Given the description of an element on the screen output the (x, y) to click on. 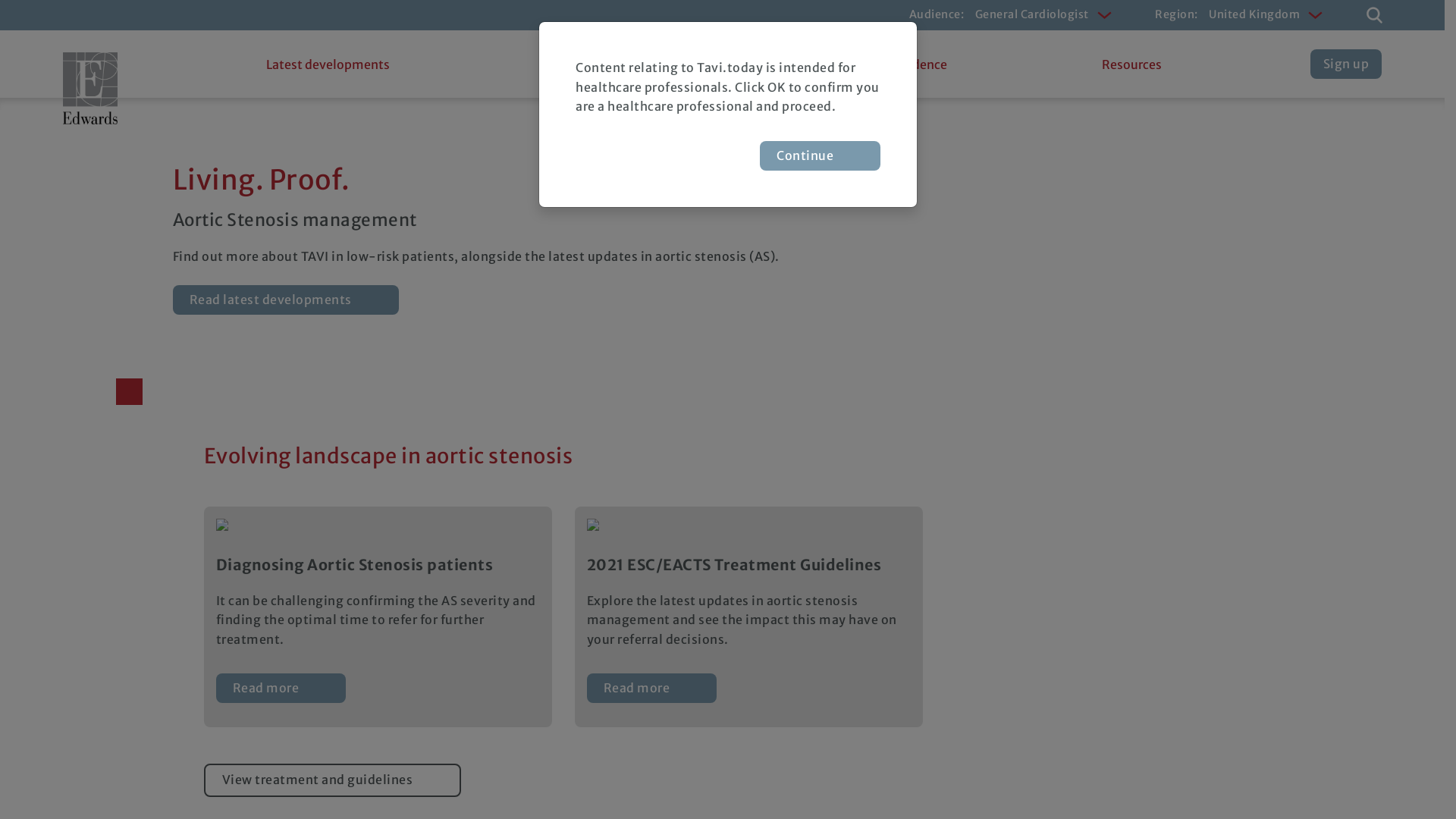
Treatment and guidelines Element type: text (619, 63)
Latest developments Element type: text (327, 63)
Read more Element type: text (651, 687)
Read latest developments Element type: text (285, 299)
Continue Element type: text (819, 155)
Sign up Element type: text (1346, 63)
View treatment and guidelines Element type: text (332, 779)
Clinical evidence Element type: text (898, 63)
Read more Element type: text (280, 687)
Resources Element type: text (1131, 63)
